Given the description of an element on the screen output the (x, y) to click on. 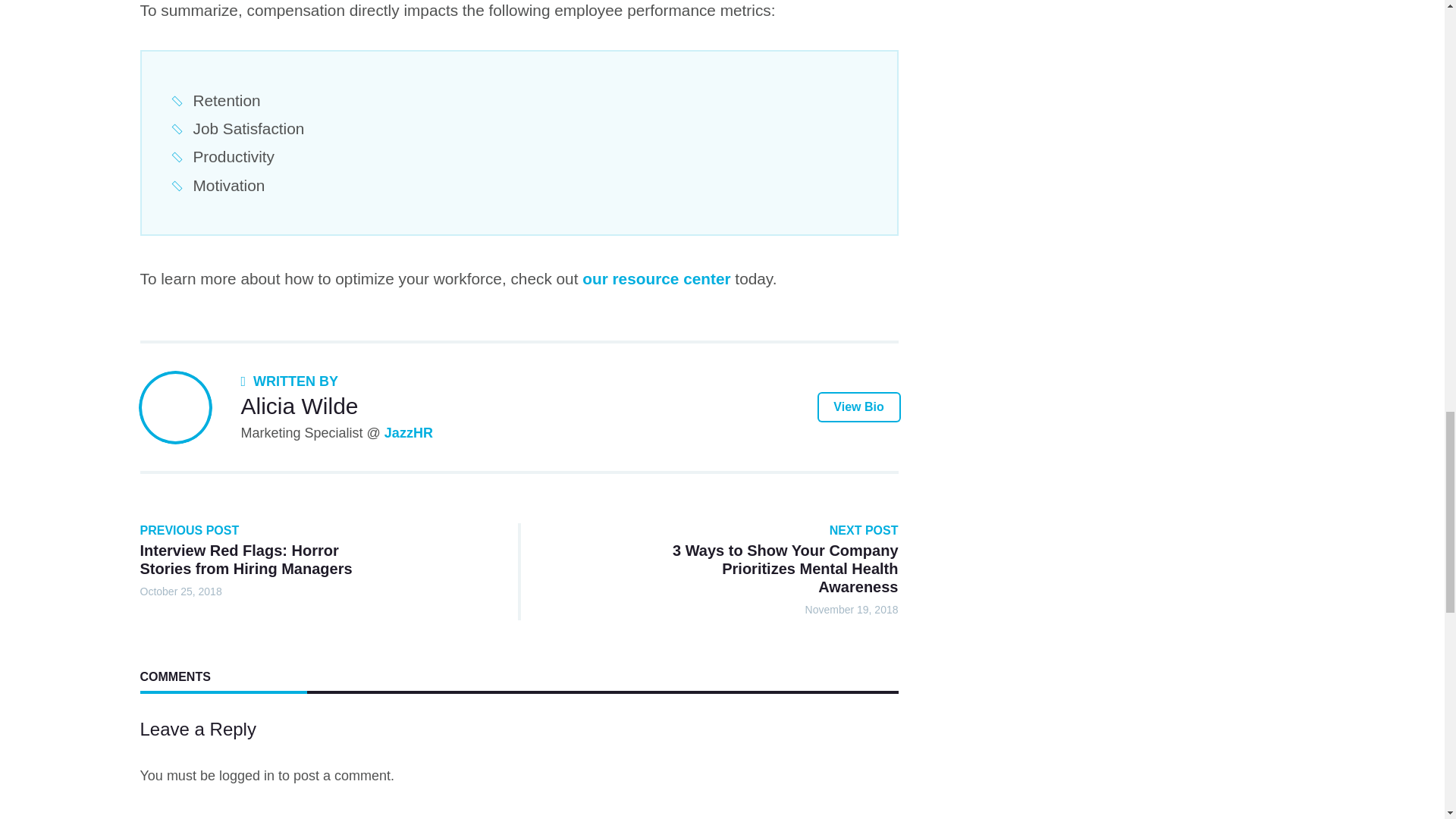
JazzHR (408, 432)
WRITTEN BY (290, 381)
Interview Red Flags: Horror Stories from Hiring Managers (245, 559)
our resource center (656, 278)
View Bio (858, 407)
Alicia Wilde (299, 405)
